Given the description of an element on the screen output the (x, y) to click on. 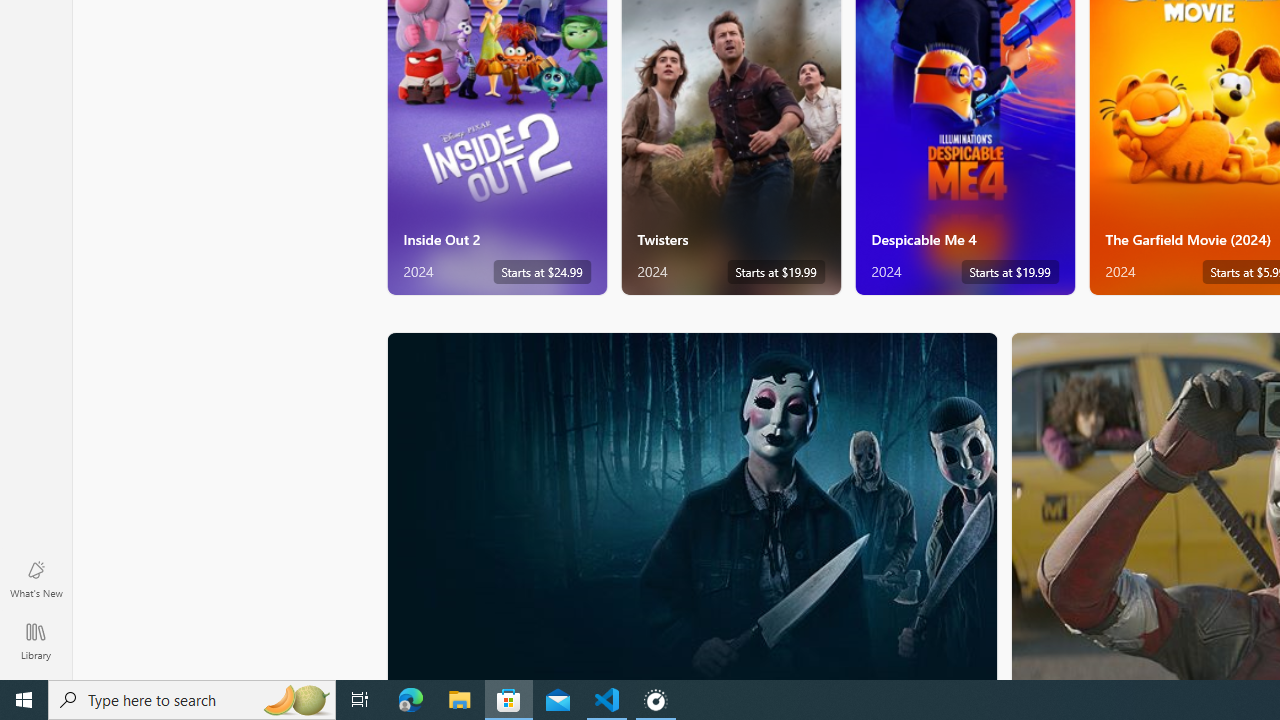
Horror (692, 505)
AutomationID: PosterImage (690, 505)
